Given the description of an element on the screen output the (x, y) to click on. 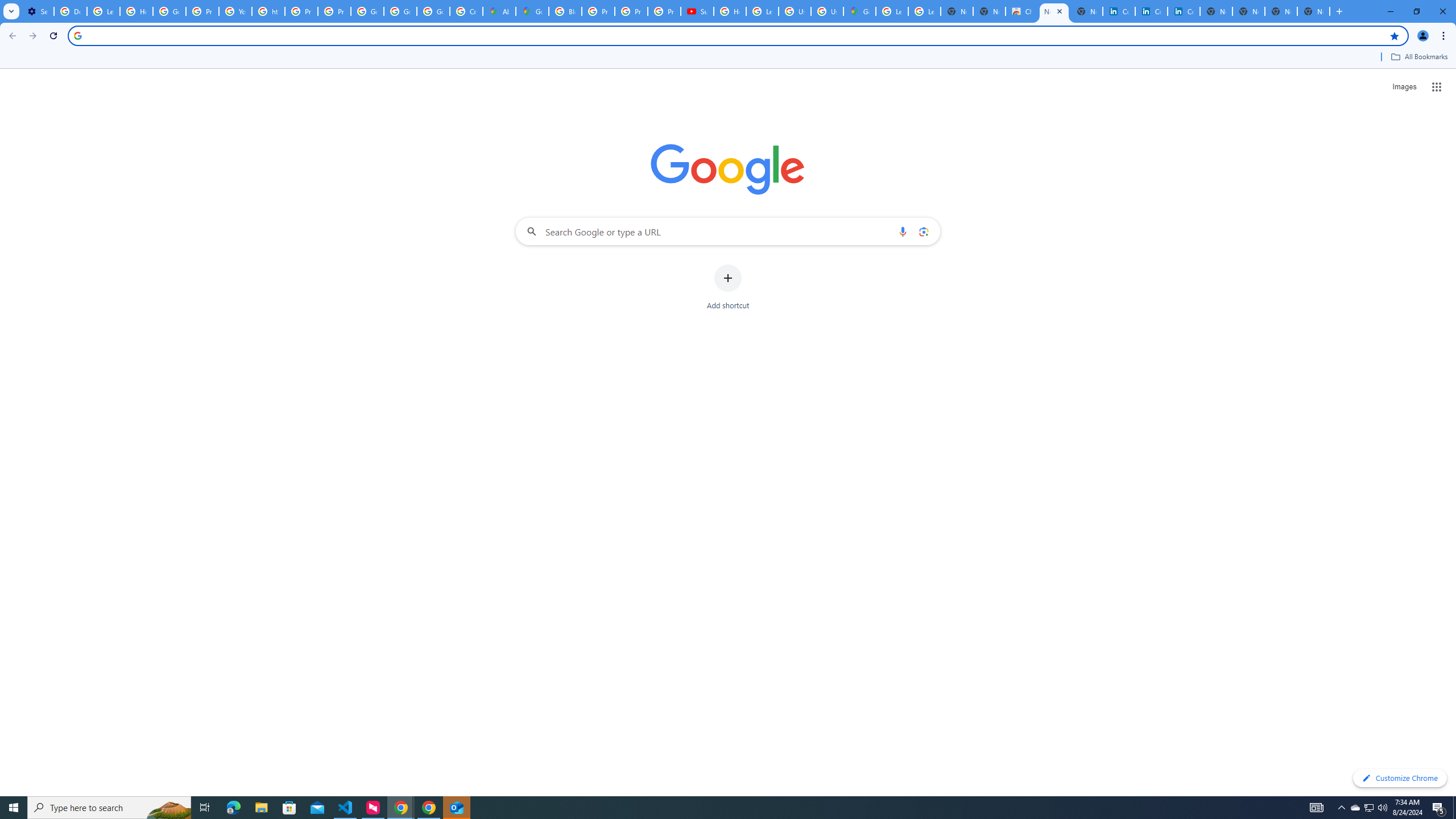
Search for Images  (1403, 87)
Blogger Policies and Guidelines - Transparency Center (564, 11)
Add shortcut (727, 287)
Privacy Help Center - Policies Help (598, 11)
Cookie Policy | LinkedIn (1150, 11)
All Bookmarks (1418, 56)
How Chrome protects your passwords - Google Chrome Help (730, 11)
Google Account Help (169, 11)
